Given the description of an element on the screen output the (x, y) to click on. 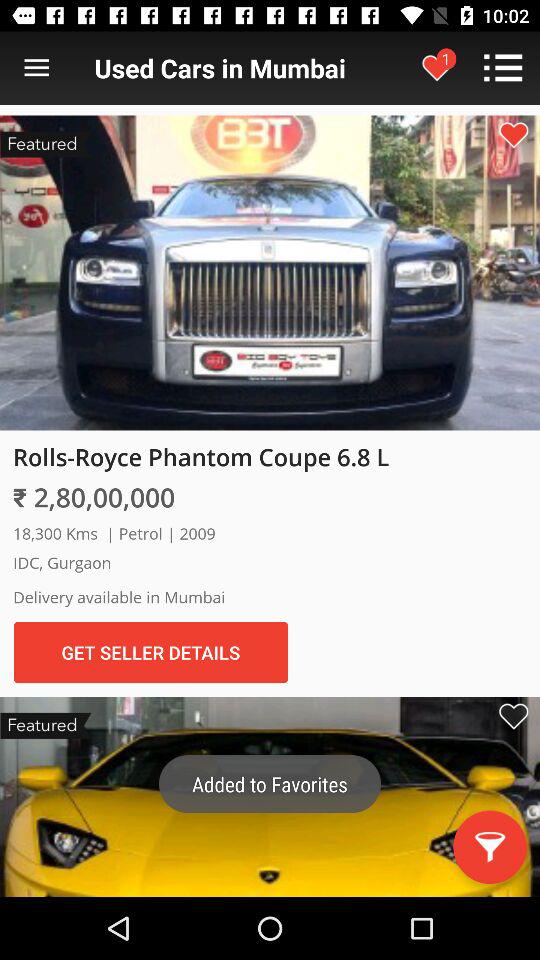
toggle like on picture (513, 134)
